Given the description of an element on the screen output the (x, y) to click on. 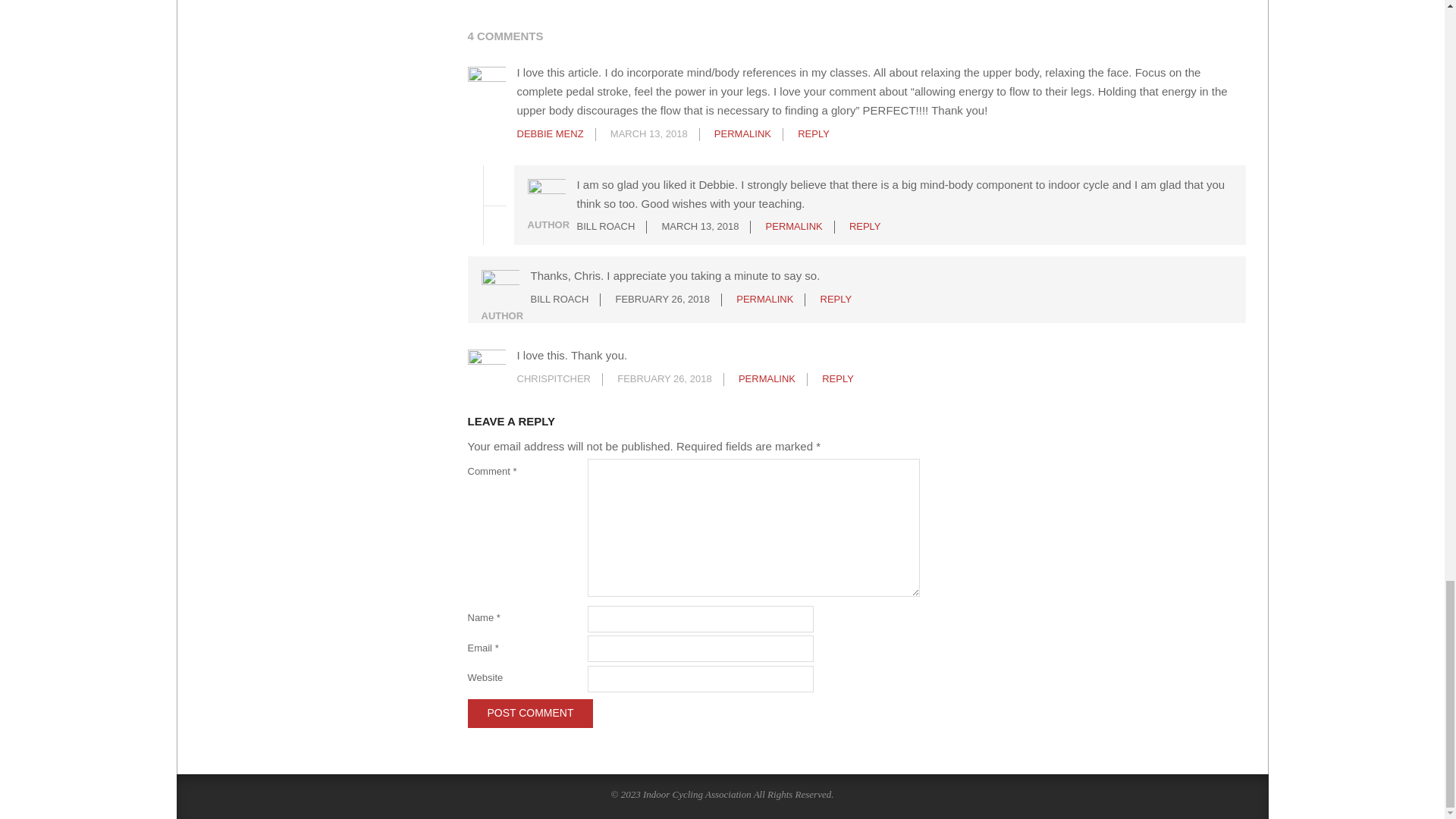
Tuesday, March 13, 2018, 9:23 pm (699, 225)
Tuesday, March 13, 2018, 7:54 pm (648, 133)
Monday, February 26, 2018, 11:50 am (662, 298)
Post Comment (529, 713)
Monday, February 26, 2018, 10:02 am (664, 378)
